Given the description of an element on the screen output the (x, y) to click on. 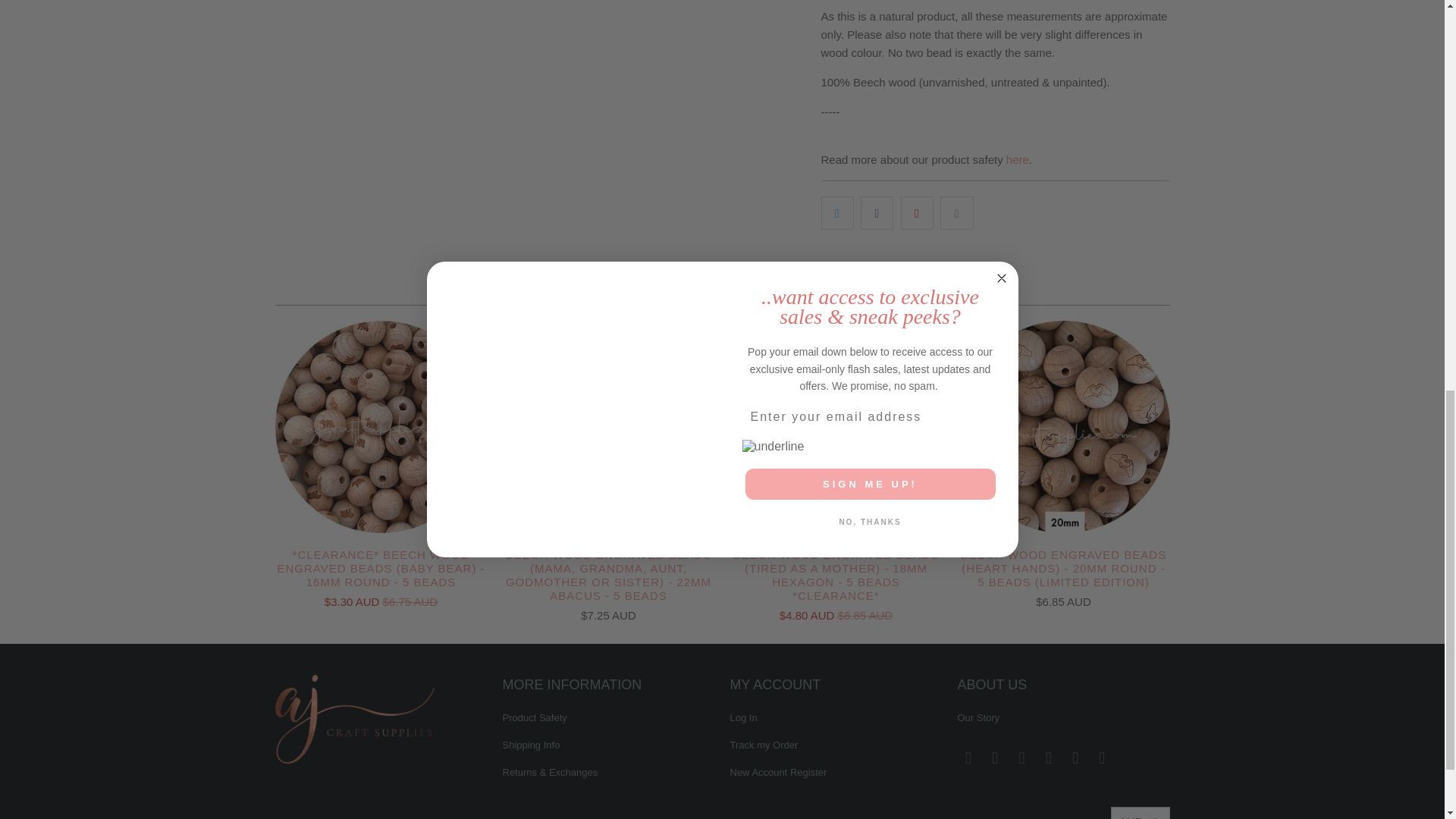
here (1017, 159)
Share this on Twitter (837, 213)
